Given the description of an element on the screen output the (x, y) to click on. 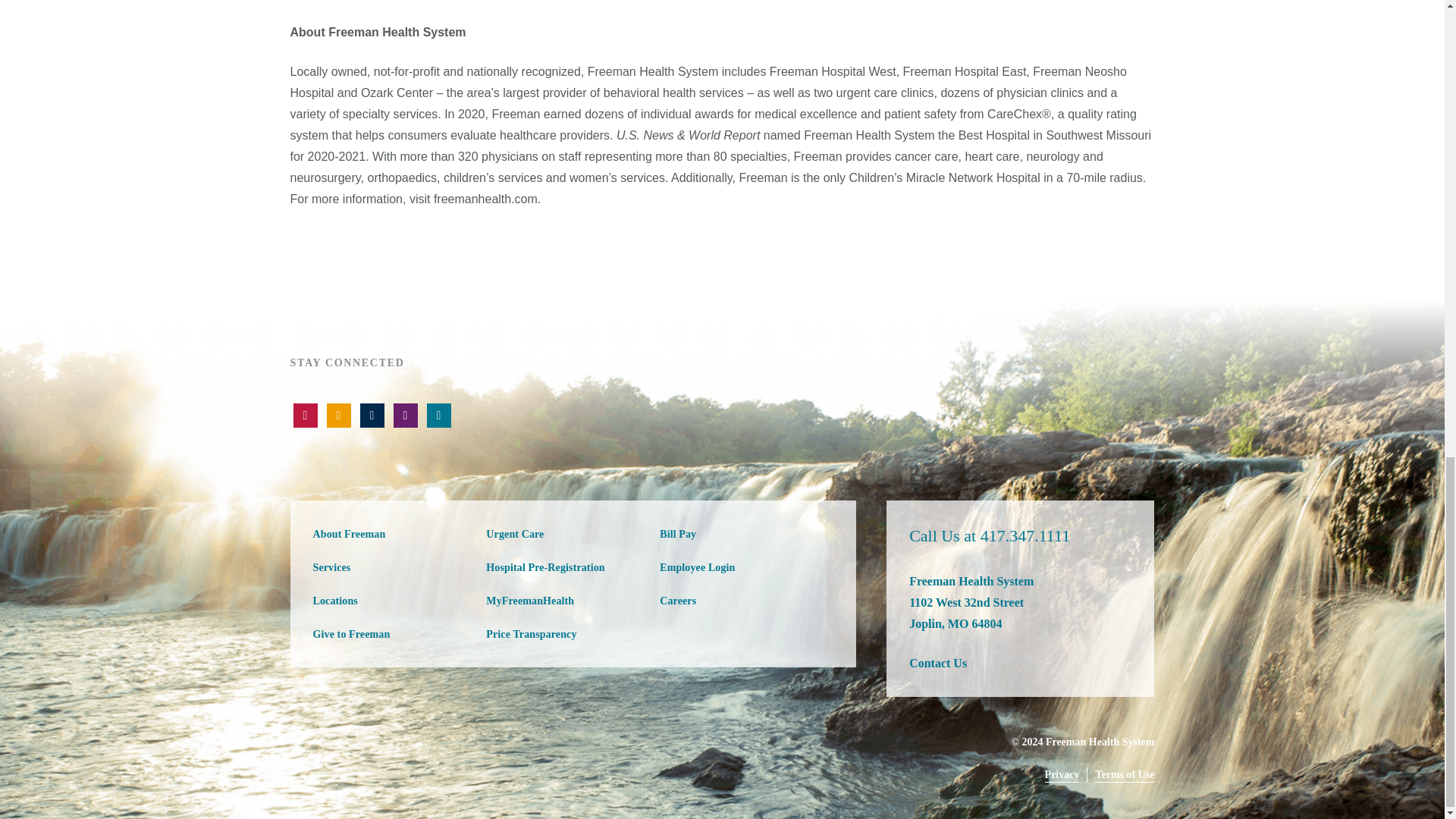
Youtube (304, 415)
Twitter (338, 415)
Terms of Use (1124, 775)
Facebook (371, 415)
Instagram (437, 415)
Instagram (404, 415)
Privacy (1062, 775)
